Given the description of an element on the screen output the (x, y) to click on. 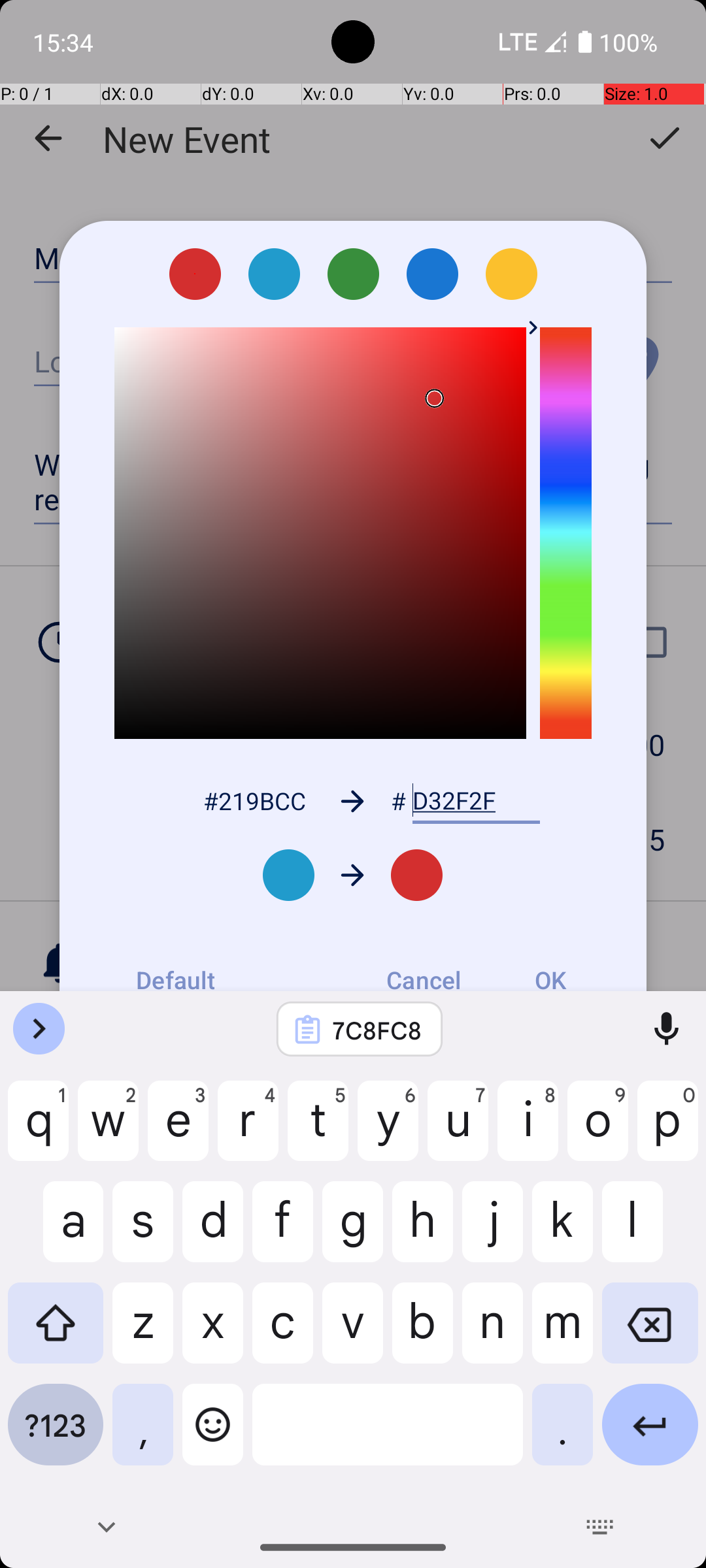
#219BCC Element type: android.widget.TextView (254, 800)
D32F2F Element type: android.widget.EditText (475, 800)
Default Element type: android.widget.Button (174, 979)
7C8FC8 Element type: android.widget.TextView (376, 1029)
